Given the description of an element on the screen output the (x, y) to click on. 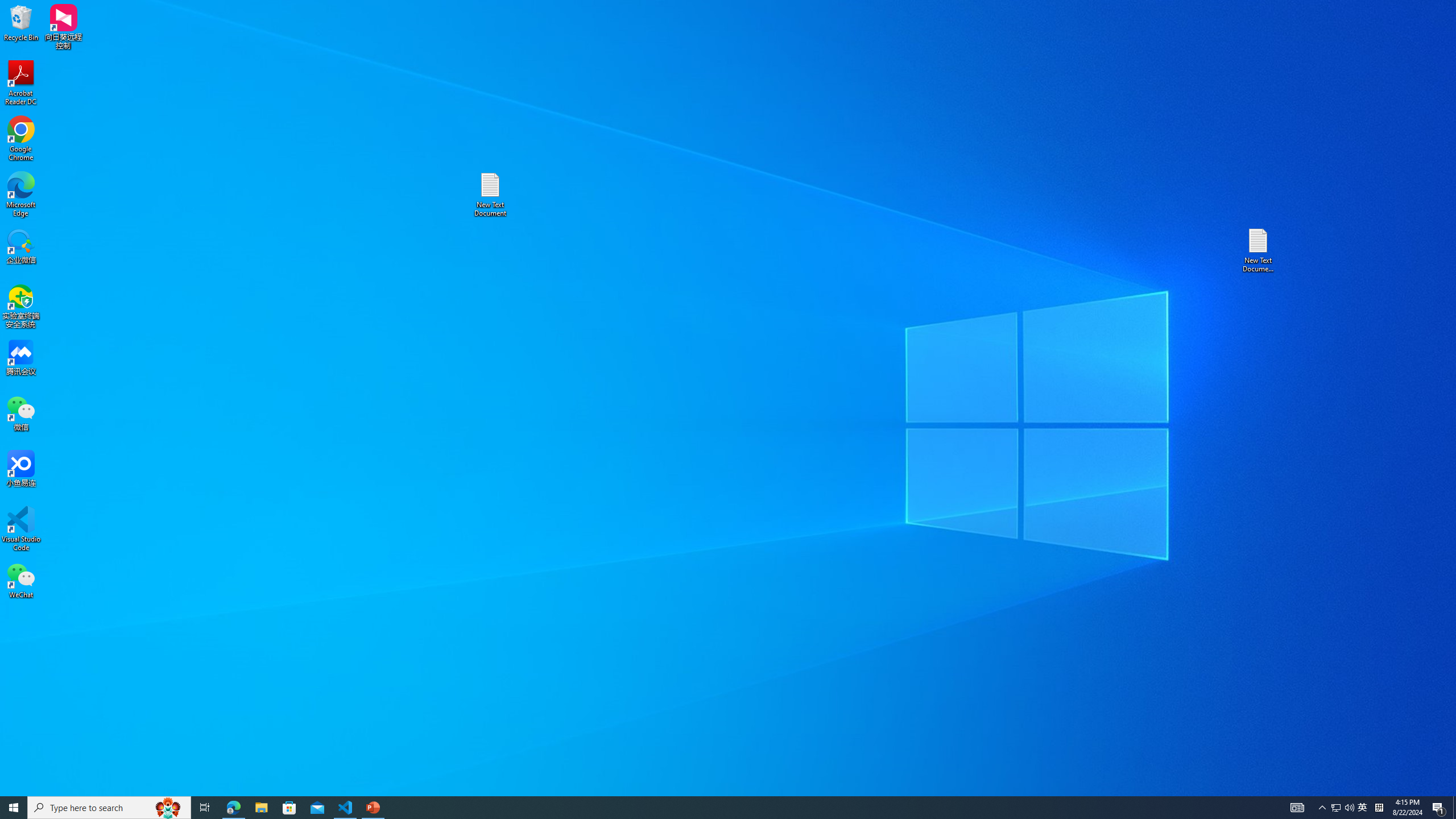
Slide Number (622, 58)
Comment (476, 58)
Photo Album... (147, 58)
Previous page (1206, 136)
Zoom 131% (1430, 790)
